Given the description of an element on the screen output the (x, y) to click on. 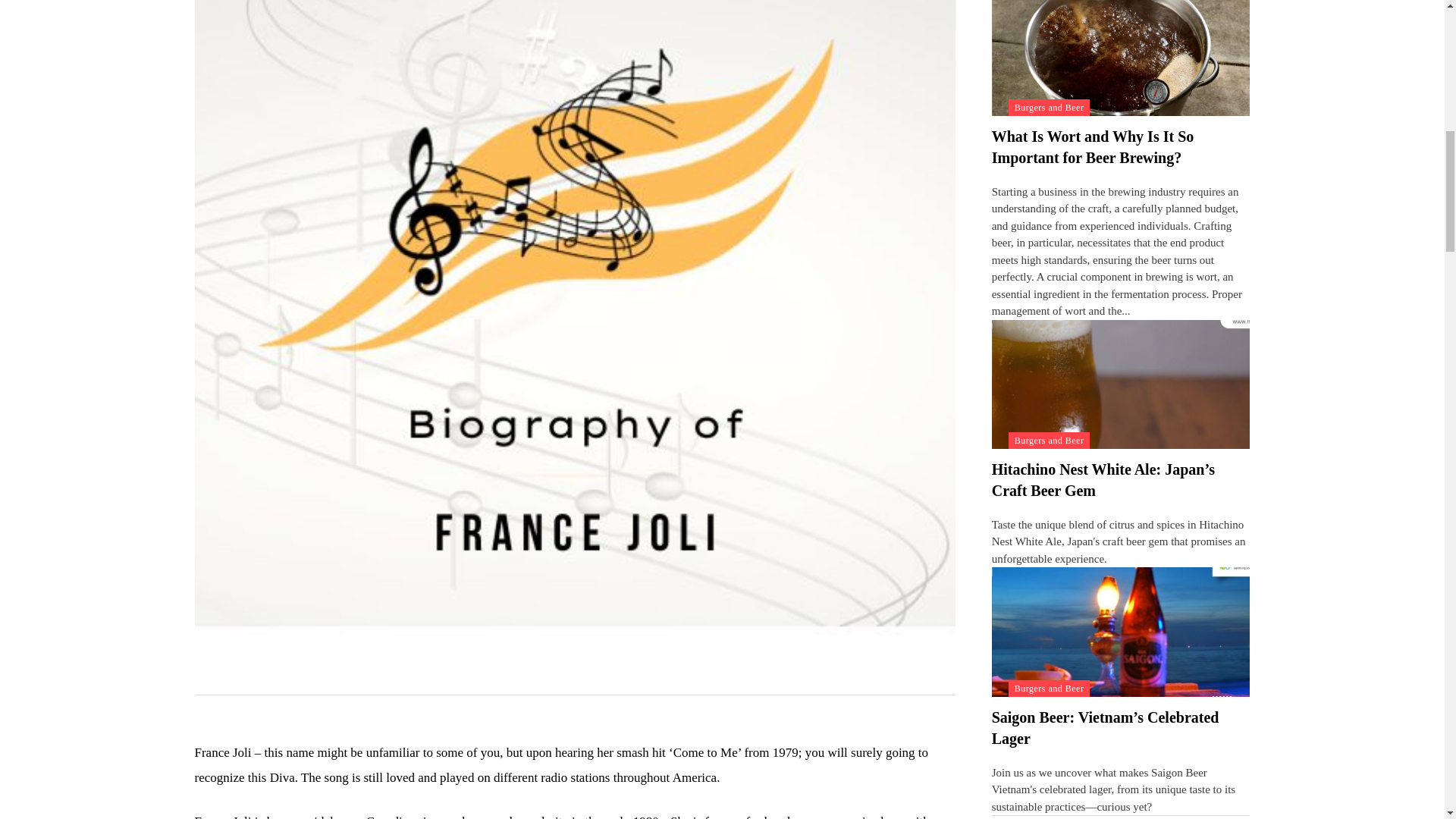
What Is Wort and Why Is It So Important for Beer Brewing? (1092, 146)
What Is Wort and Why Is It So Important for Beer Brewing? (1120, 57)
